Given the description of an element on the screen output the (x, y) to click on. 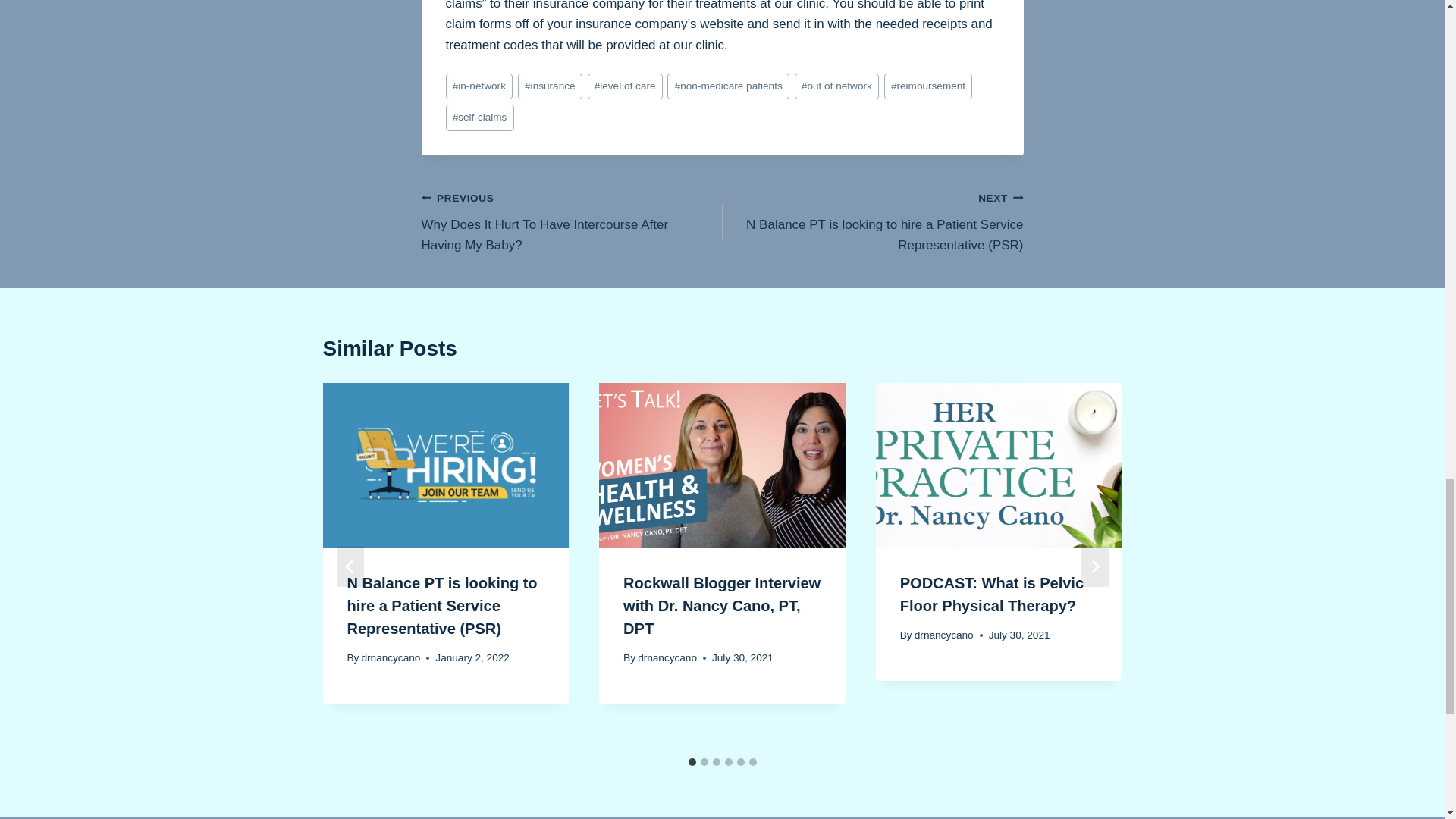
reimbursement (927, 86)
level of care (625, 86)
in-network (479, 86)
self-claims (479, 117)
insurance (550, 86)
out of network (836, 86)
non-medicare patients (727, 86)
